Given the description of an element on the screen output the (x, y) to click on. 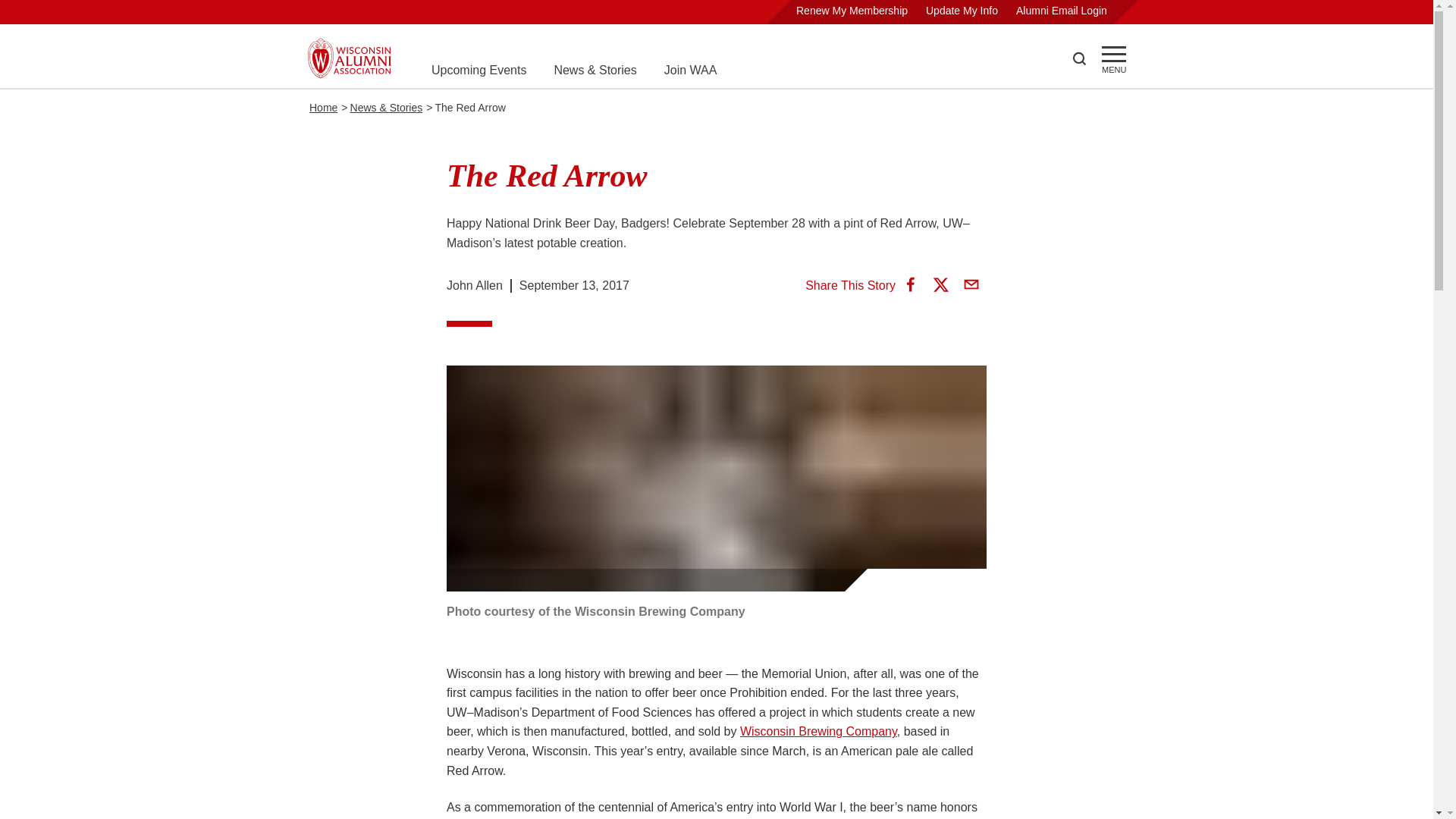
Upcoming Events (477, 70)
Home (322, 107)
Join WAA (690, 70)
Update My Info (961, 10)
Alumni Email Login (1061, 10)
Wisconsin Brewing Company (817, 730)
Renew My Membership (851, 10)
